Given the description of an element on the screen output the (x, y) to click on. 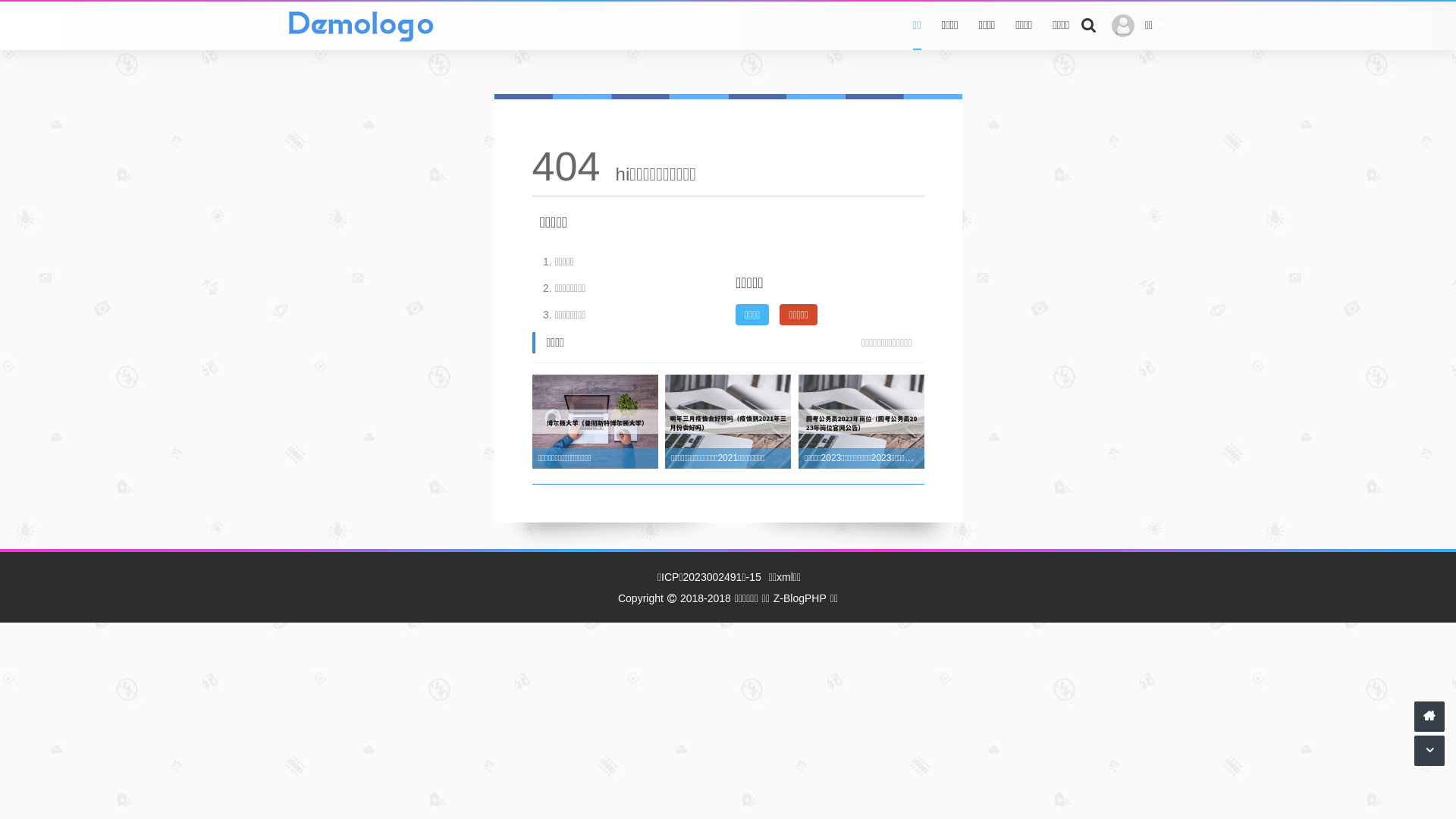
Z-BlogPHP Element type: text (799, 598)
